Given the description of an element on the screen output the (x, y) to click on. 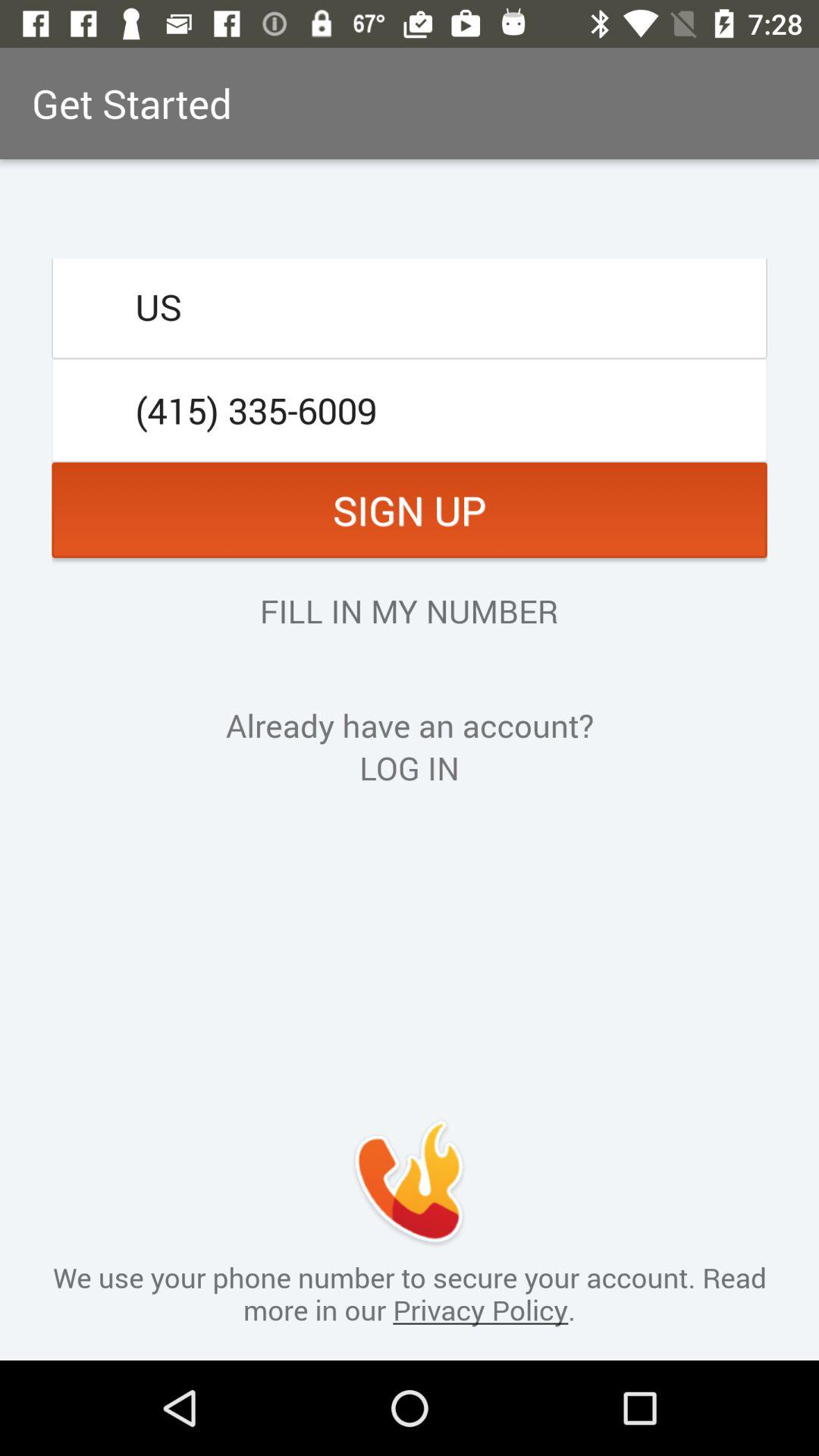
scroll until the log in (409, 767)
